Given the description of an element on the screen output the (x, y) to click on. 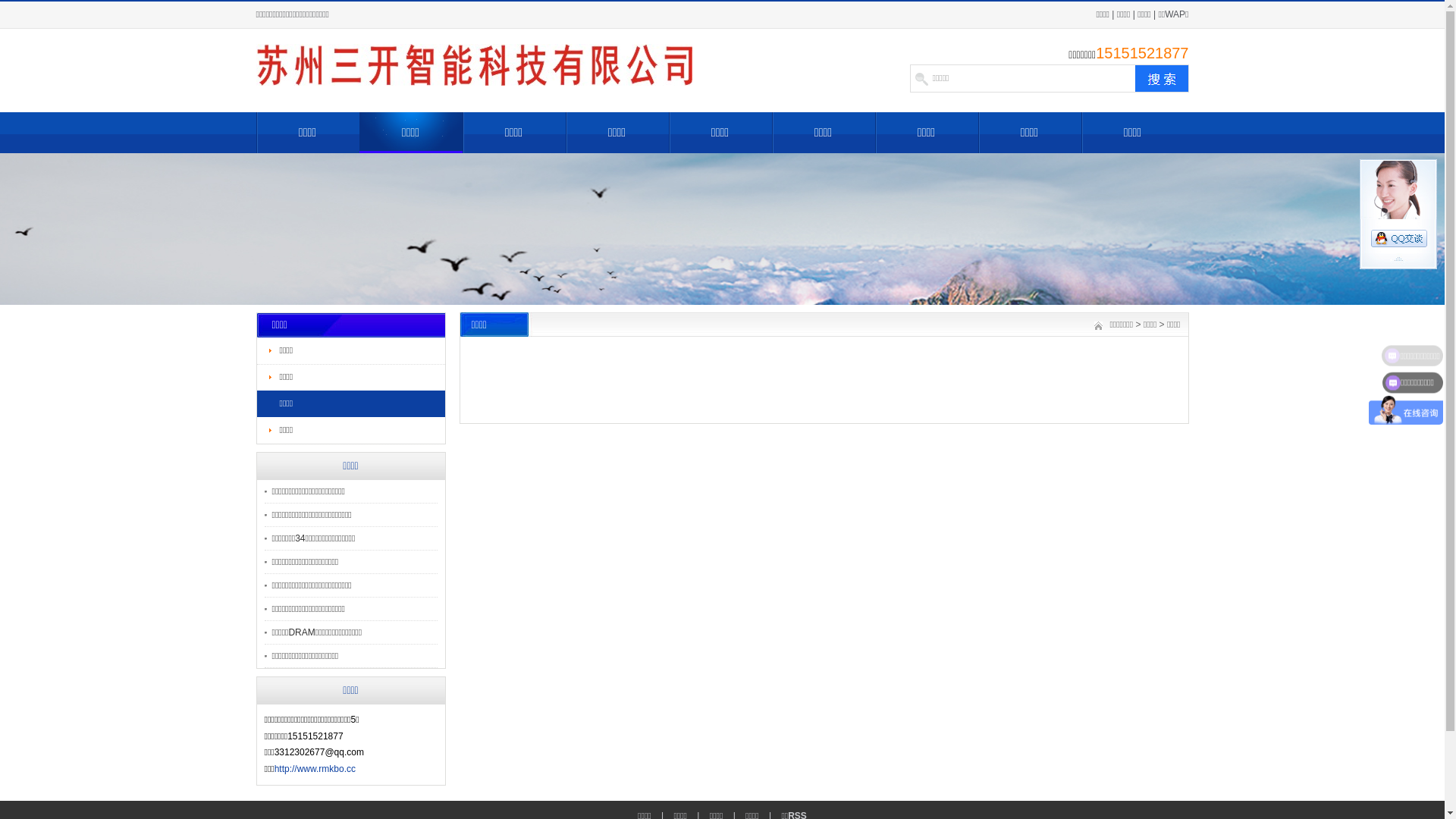
  Element type: text (1161, 78)
http://www.rmkbo.cc Element type: text (314, 768)
